Given the description of an element on the screen output the (x, y) to click on. 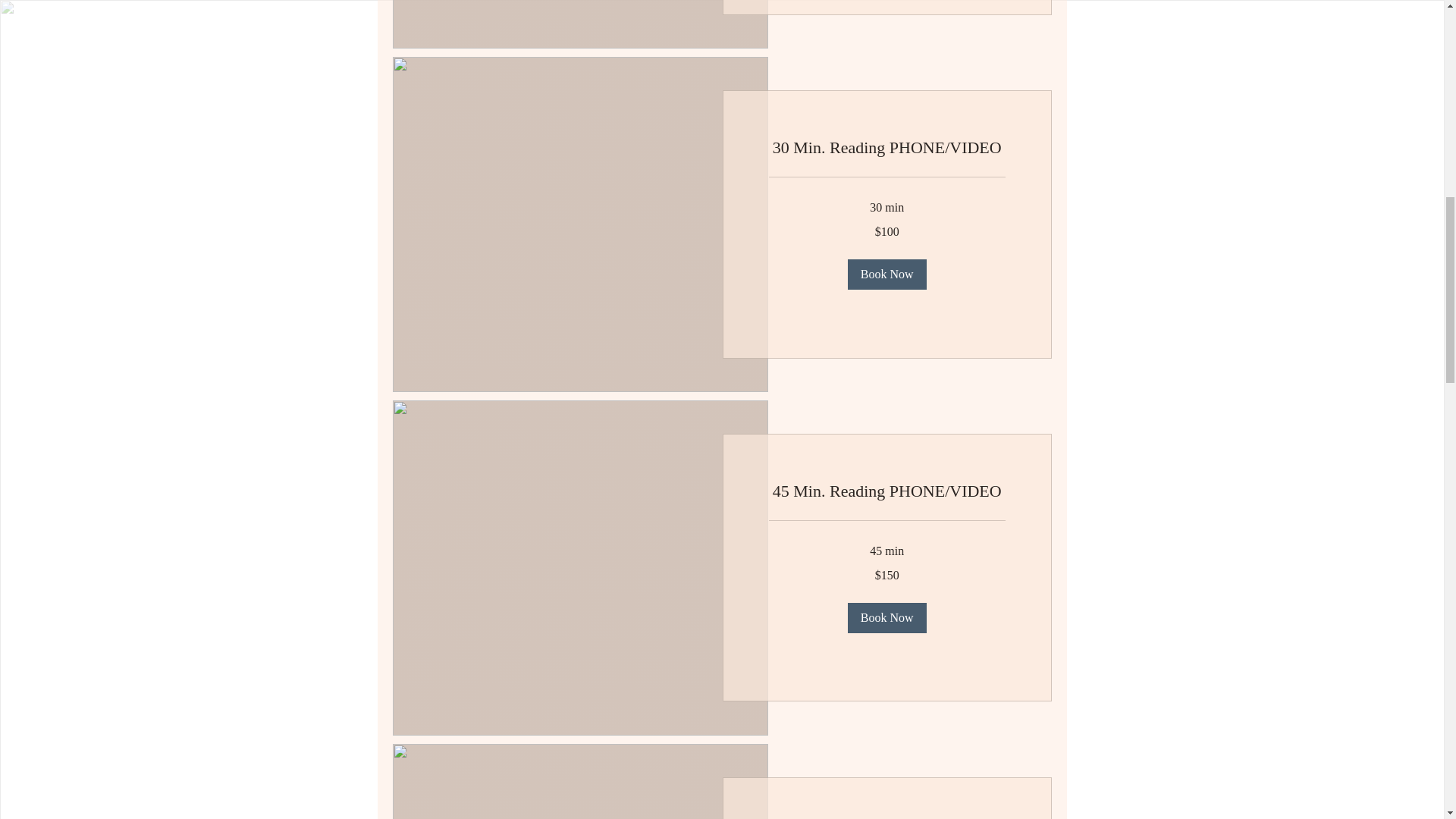
Book Now (886, 274)
Book Now (886, 617)
